Given the description of an element on the screen output the (x, y) to click on. 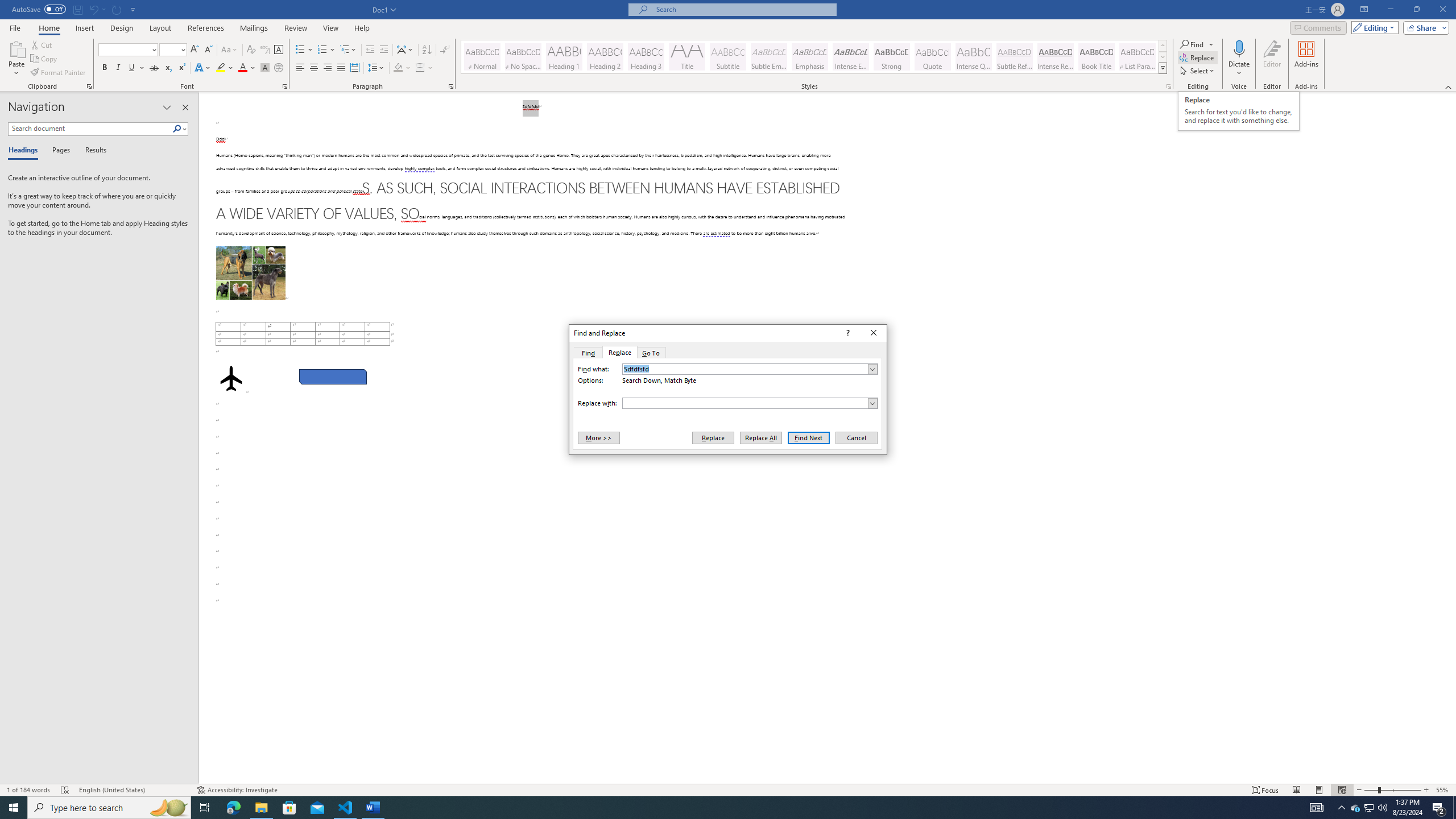
Action Center, 2 new notifications (1439, 807)
Strong (891, 56)
Cancel (855, 437)
Emphasis (809, 56)
